Given the description of an element on the screen output the (x, y) to click on. 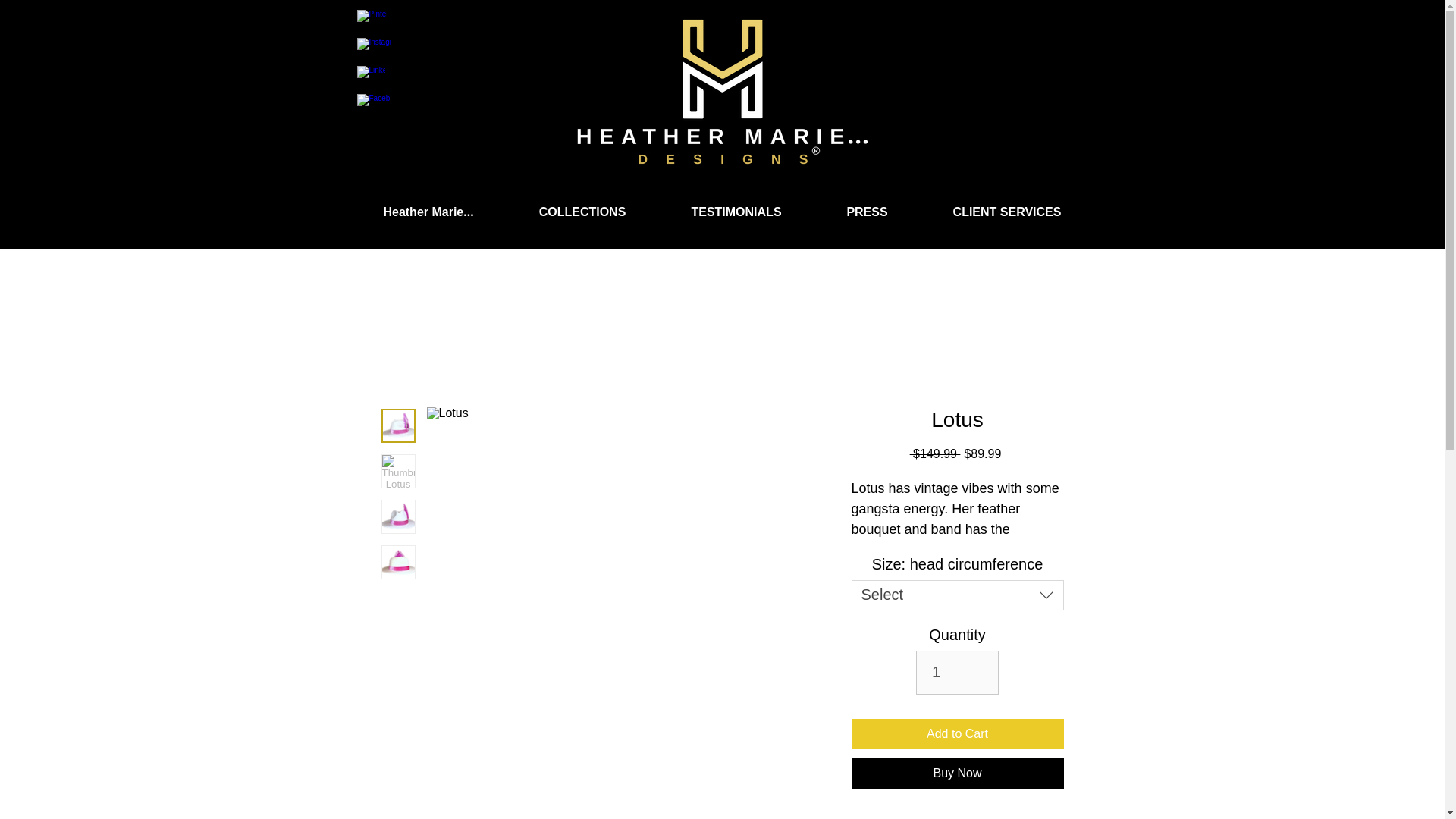
TESTIMONIALS (735, 211)
COLLECTIONS (582, 211)
Add to Cart (956, 734)
PRESS (866, 211)
Buy Now (956, 773)
Select (956, 594)
CLIENT SERVICES (1007, 211)
1 (956, 672)
Heather Marie... (427, 211)
